Given the description of an element on the screen output the (x, y) to click on. 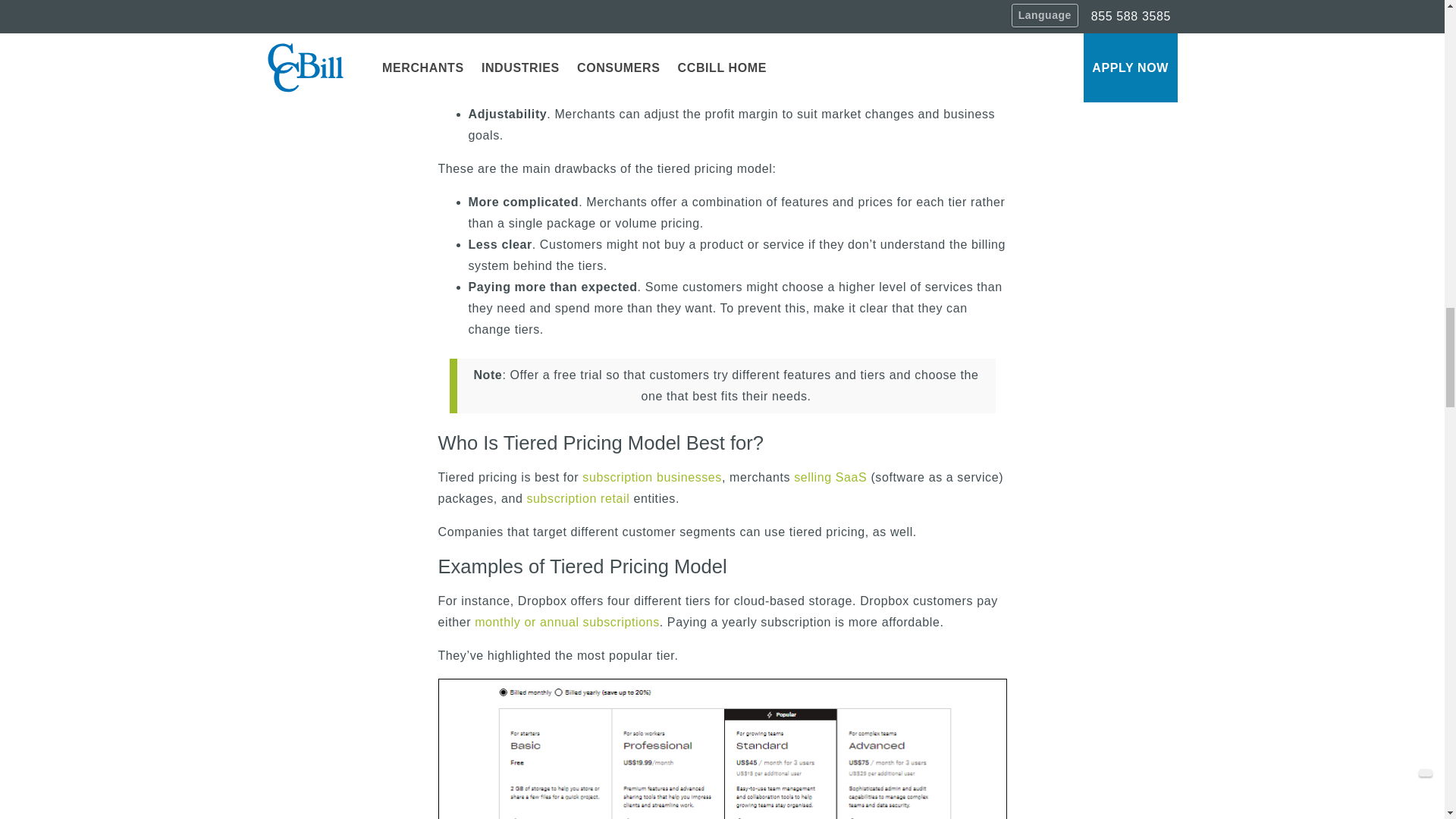
selling SaaS (829, 477)
subscription businesses (652, 477)
monthly or annual subscriptions (566, 621)
subscription retail (576, 498)
